Given the description of an element on the screen output the (x, y) to click on. 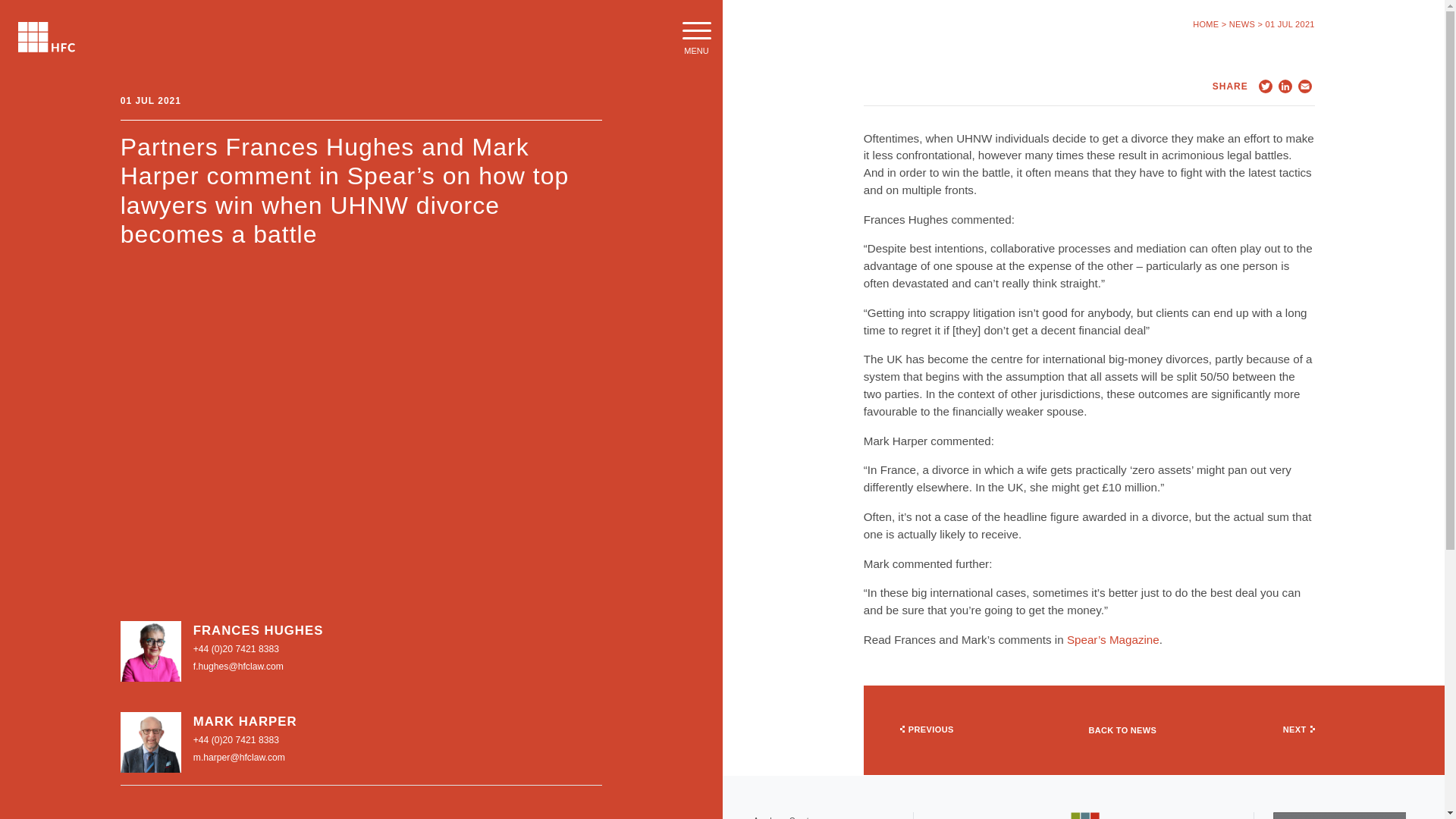
Hughes Fowler Carruthers (46, 37)
MENU (696, 38)
Hughes Fowler Carruthers (46, 37)
Email (1304, 86)
Email (238, 665)
Phone (236, 739)
Email (239, 757)
LinkedIn (1285, 86)
Twitter (1265, 86)
Phone (236, 648)
